Given the description of an element on the screen output the (x, y) to click on. 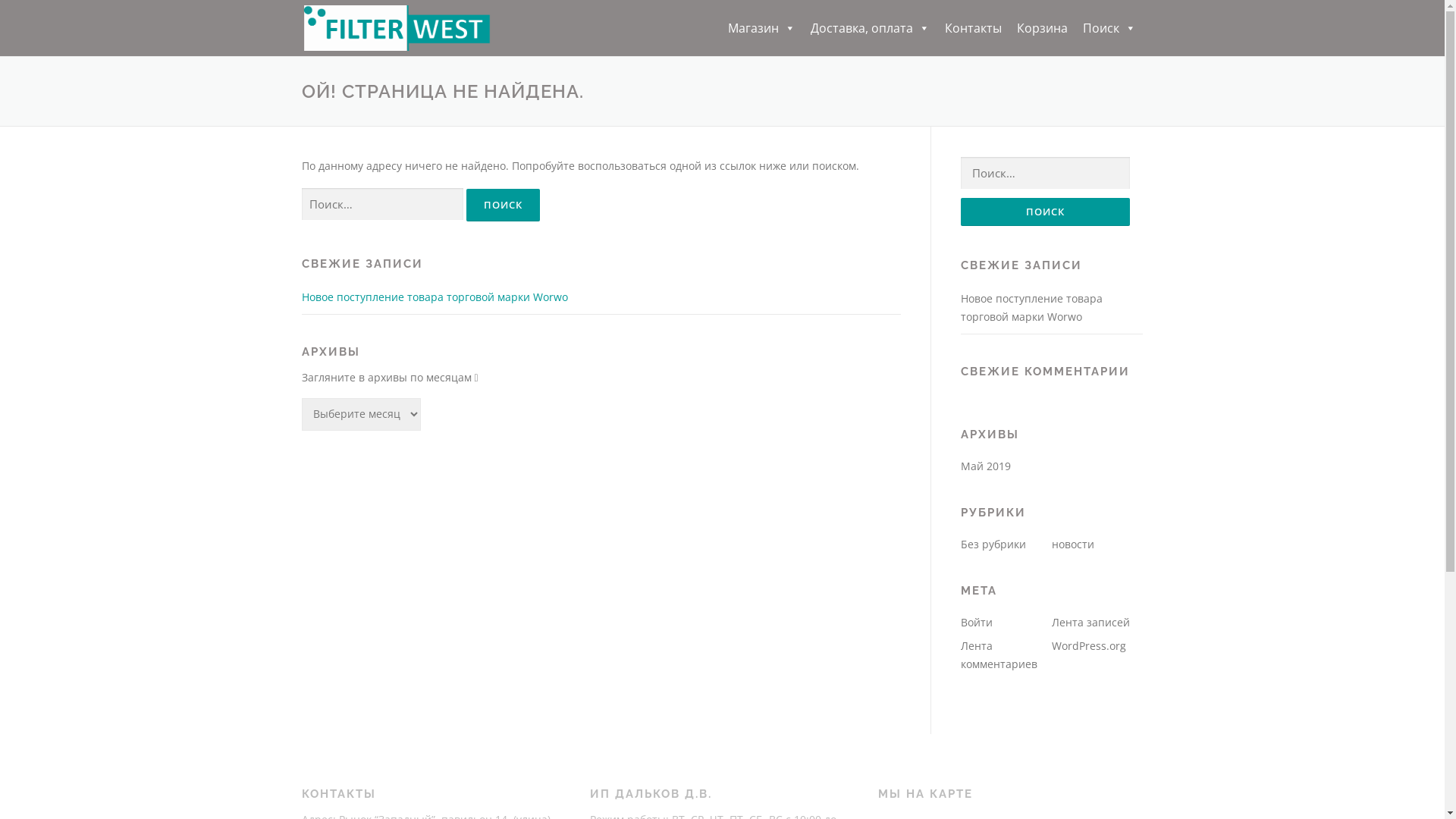
WordPress.org Element type: text (1088, 645)
